Given the description of an element on the screen output the (x, y) to click on. 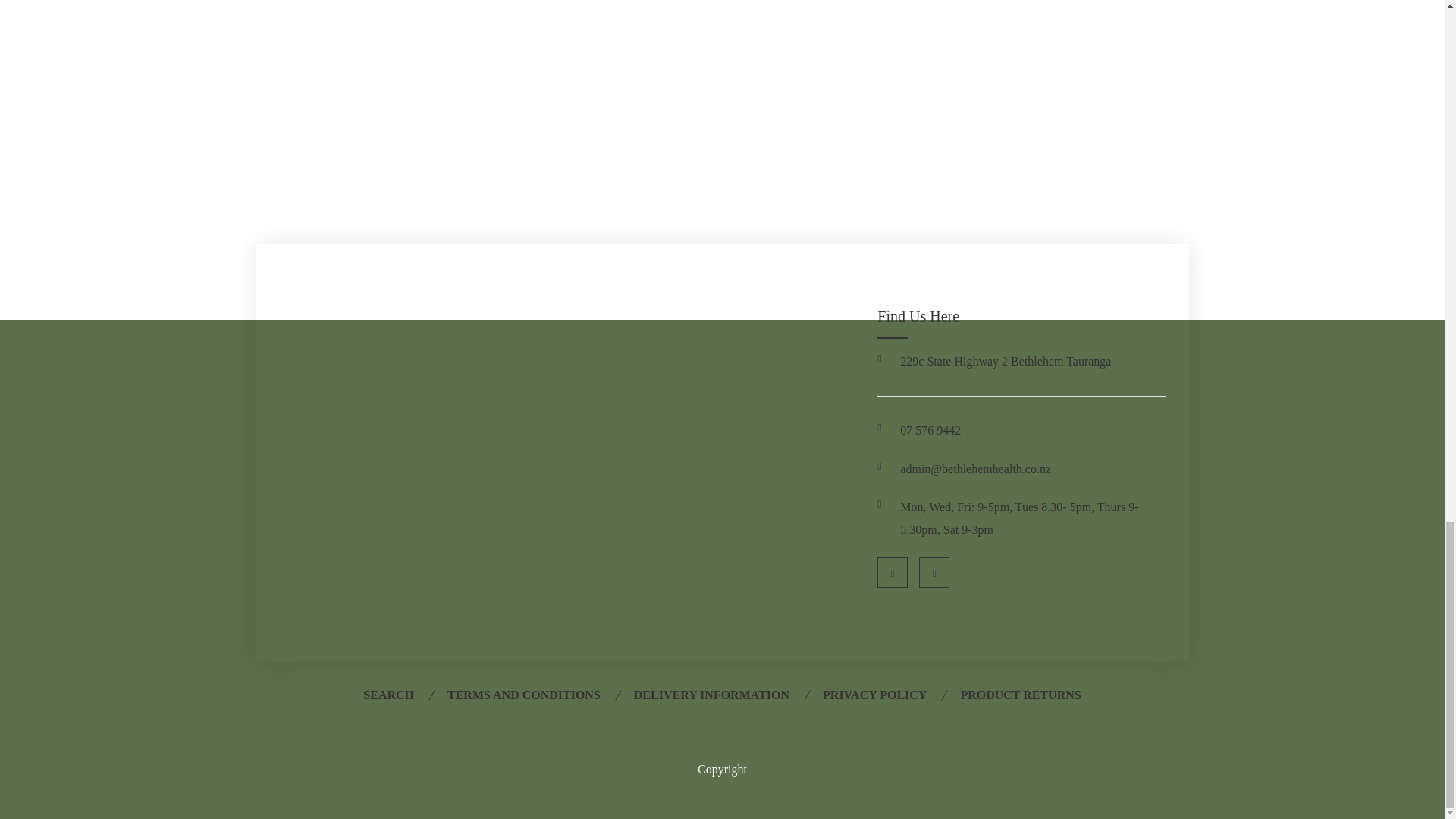
Instagram (933, 572)
Facebook (892, 572)
